Given the description of an element on the screen output the (x, y) to click on. 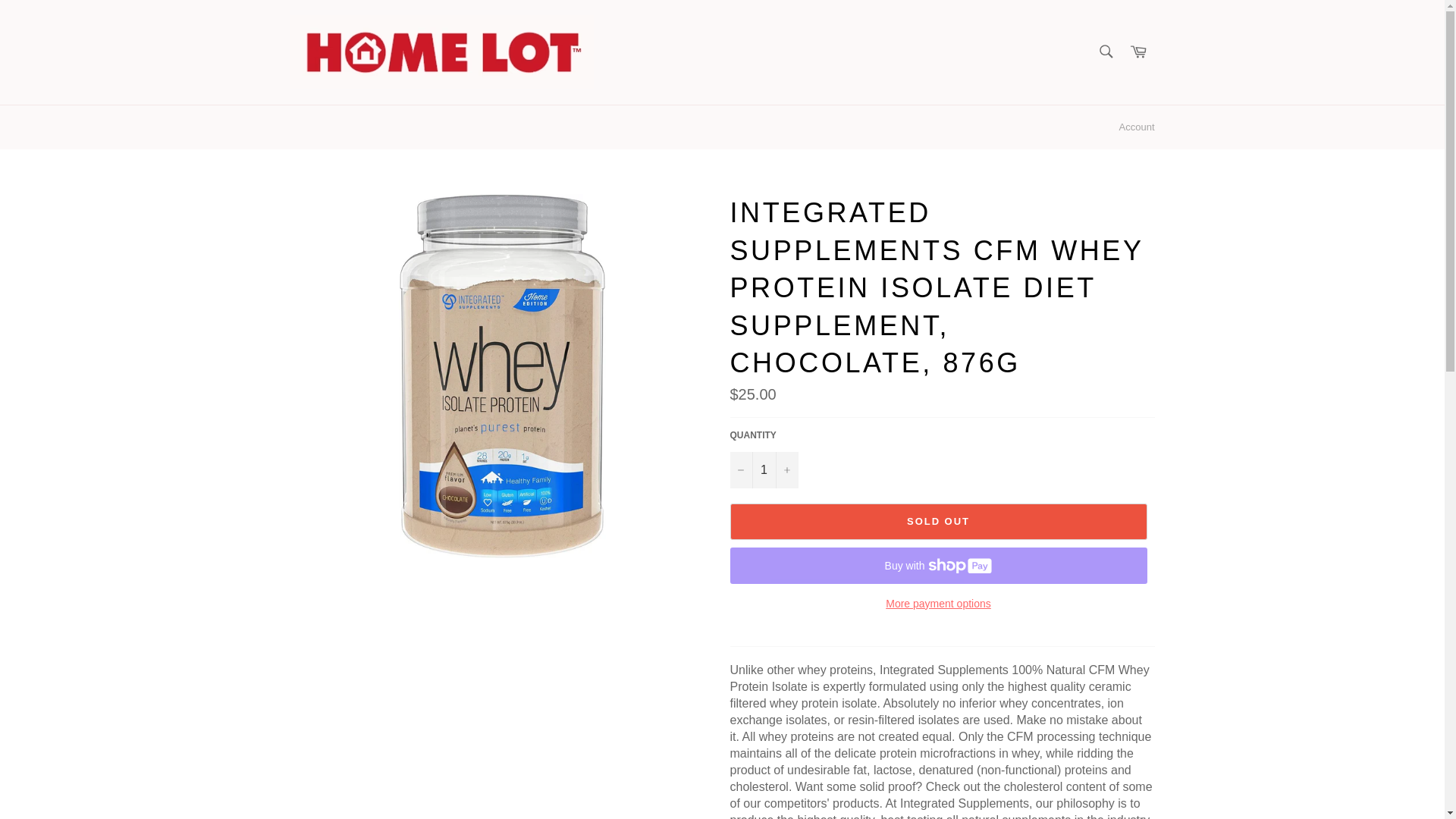
SOLD OUT (938, 521)
Account (1136, 127)
More payment options (938, 603)
Search (1104, 50)
1 (763, 470)
Cart (1138, 51)
